Given the description of an element on the screen output the (x, y) to click on. 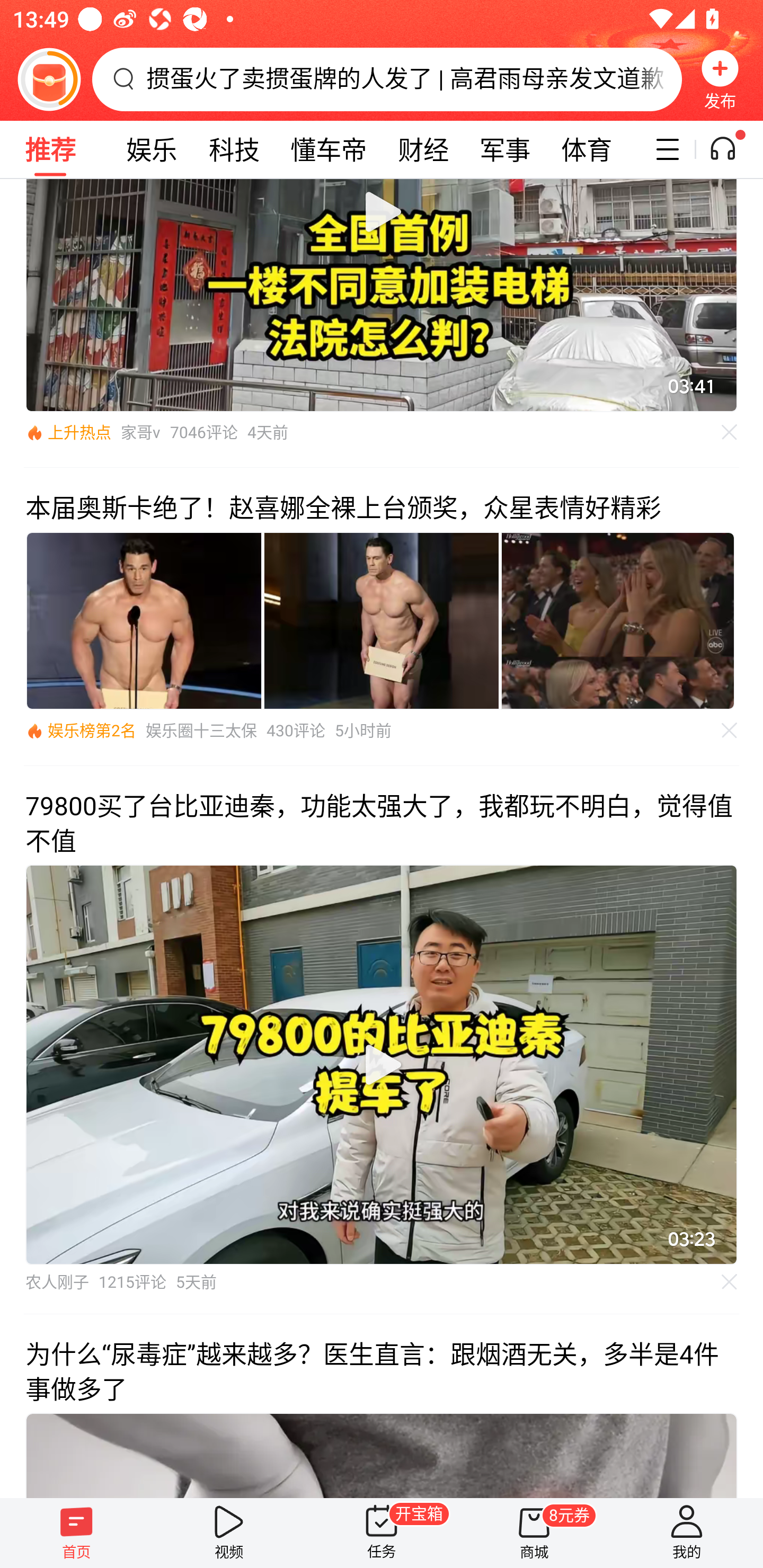
阅读赚金币 (48, 79)
发布 发布，按钮 (720, 78)
推荐 (49, 149)
娱乐 (151, 149)
科技 (234, 149)
懂车帝 (328, 149)
财经 (423, 149)
军事 (504, 149)
体育 (586, 149)
听一听开关 (732, 149)
播放视频 视频播放器，双击屏幕打开播放控制 (381, 295)
播放视频 (381, 213)
不感兴趣 (729, 432)
三张内容图片 内容图片 内容图片 内容图片 (381, 620)
内容图片 (381, 620)
内容图片 (617, 620)
不感兴趣 (729, 730)
播放视频 视频播放器，双击屏幕打开播放控制 (381, 1064)
播放视频 (381, 1064)
不感兴趣 (729, 1281)
为什么“尿毒症”越来越多？医生直言：跟烟酒无关，多半是4件事做多了 (381, 1405)
首页 (76, 1532)
视频 (228, 1532)
任务 开宝箱 (381, 1532)
商城 8元券 (533, 1532)
我的 (686, 1532)
